Given the description of an element on the screen output the (x, y) to click on. 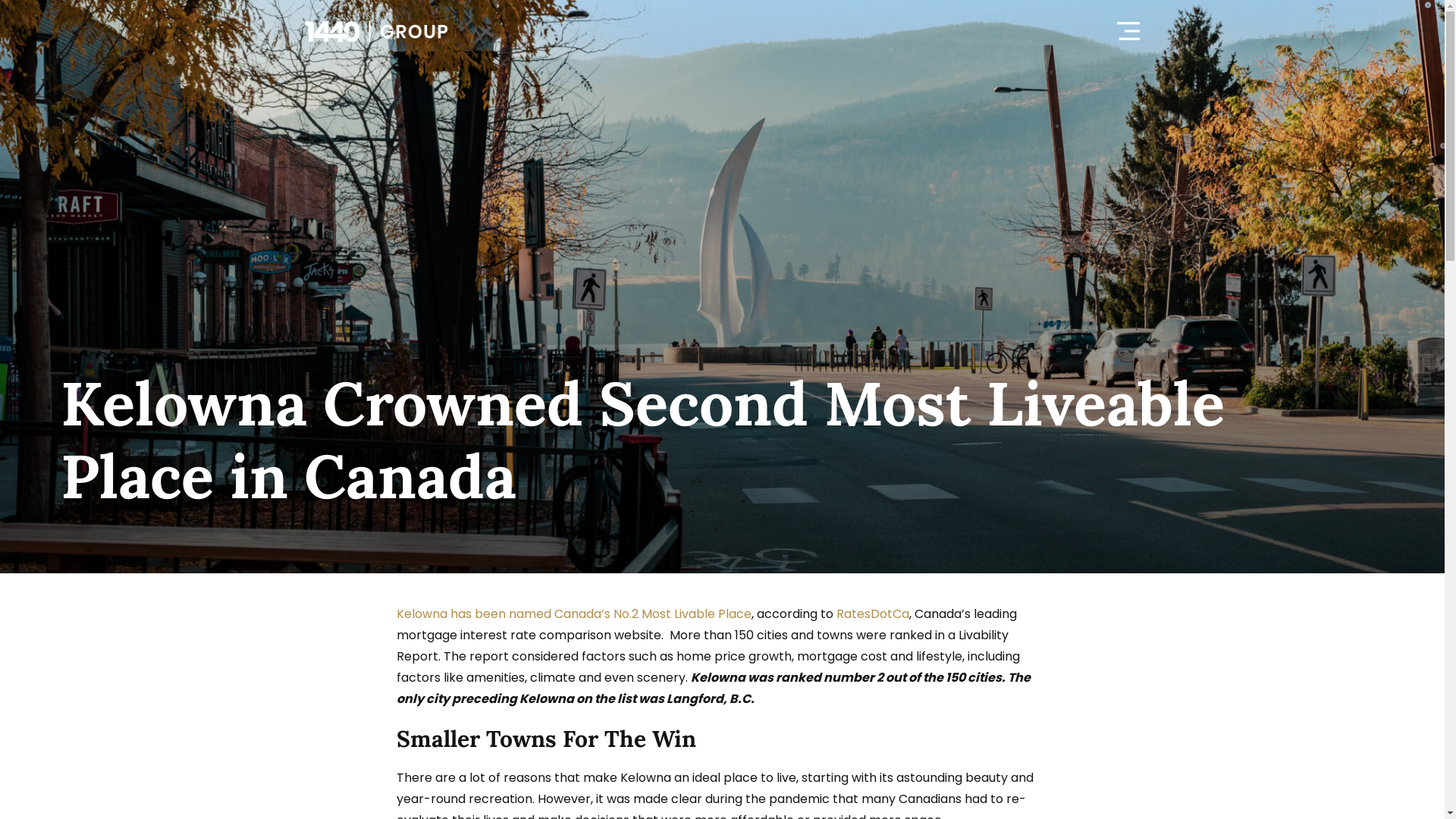
1440 Property Group Element type: hover (375, 31)
Menu Toggle Element type: text (1127, 30)
RatesDotCa Element type: text (871, 613)
